Given the description of an element on the screen output the (x, y) to click on. 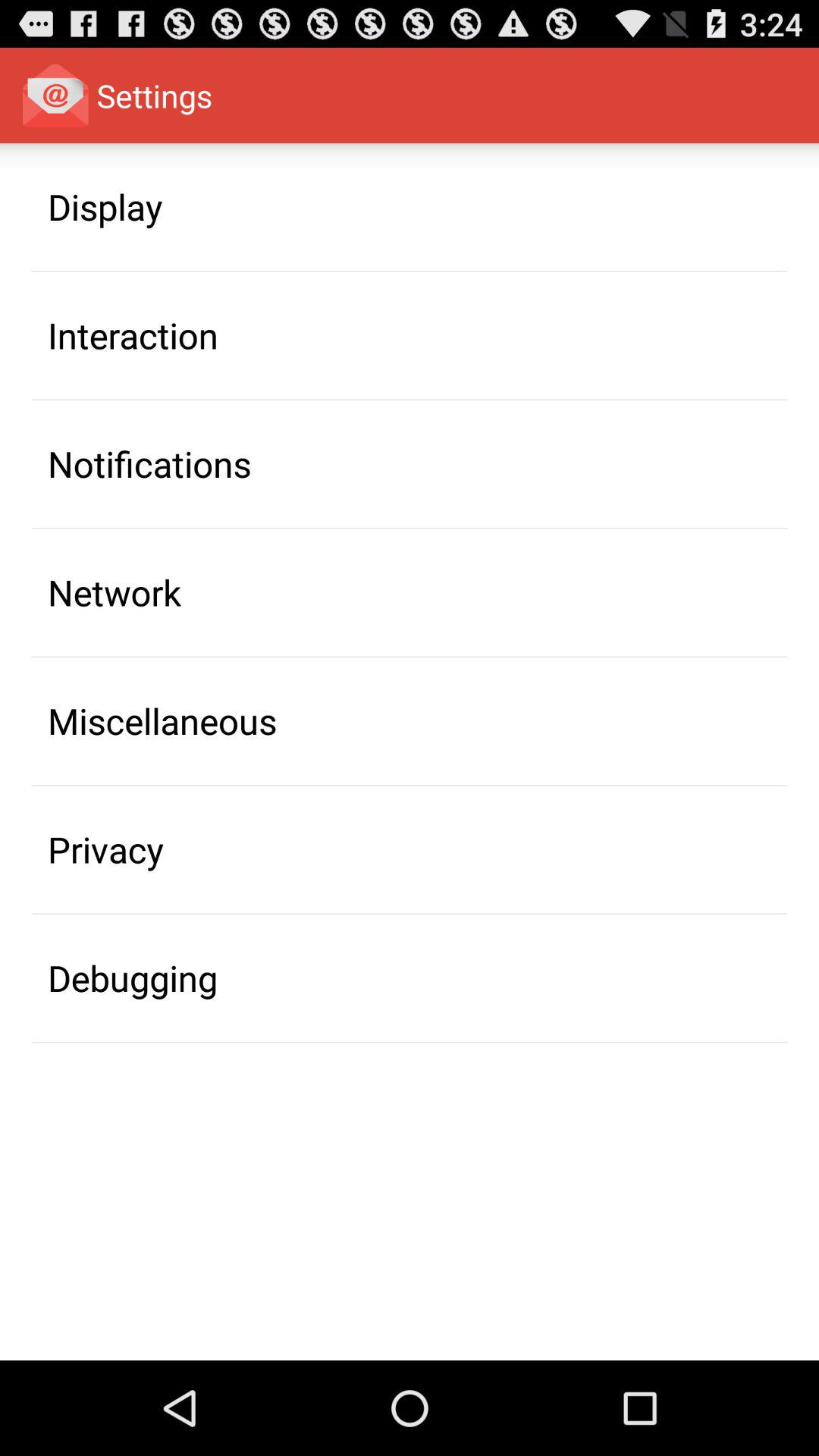
turn off the item below interaction app (149, 463)
